Given the description of an element on the screen output the (x, y) to click on. 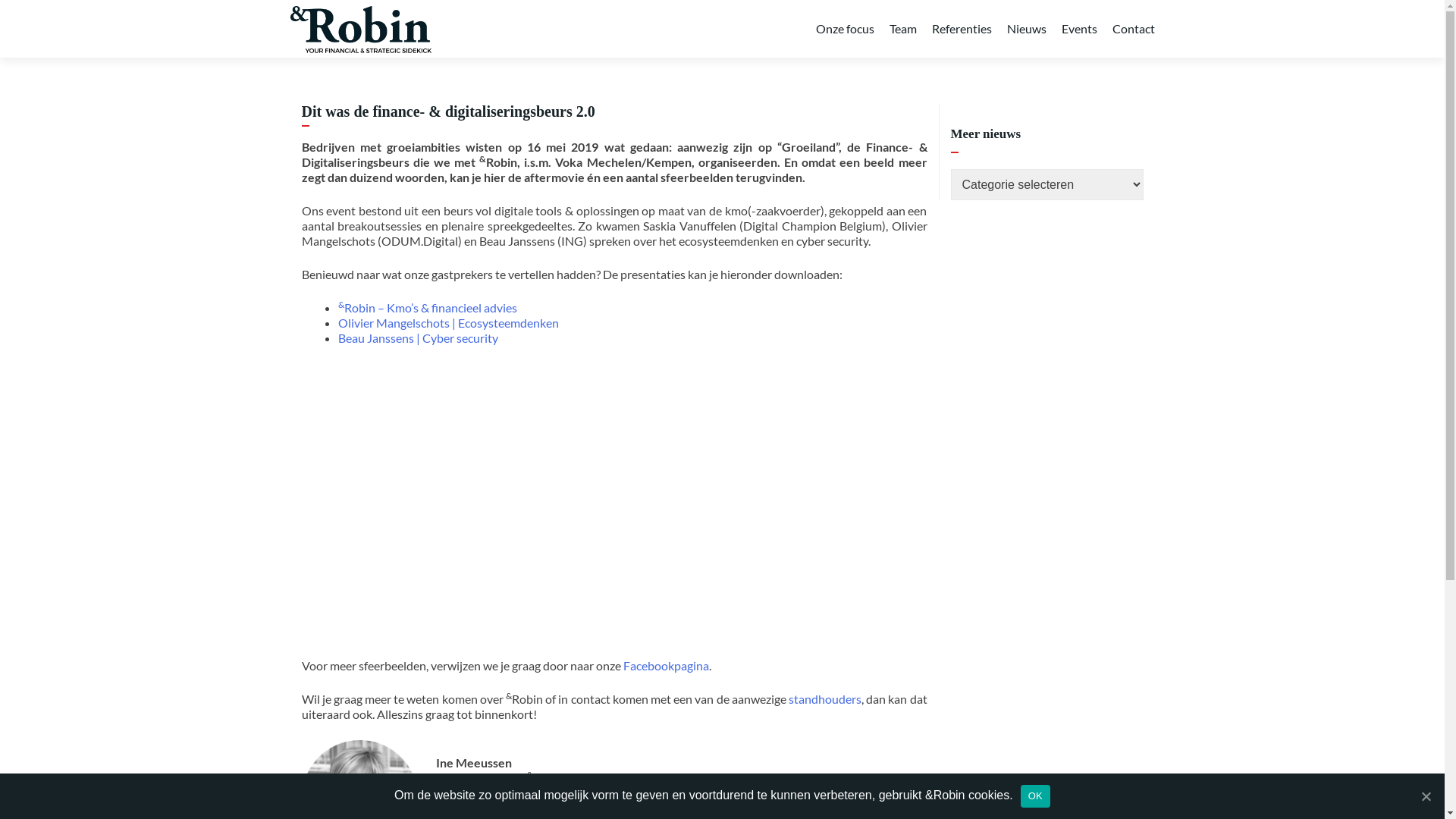
Onze focus Element type: text (844, 28)
OK Element type: text (1035, 795)
Team Element type: text (902, 28)
Beau Janssens | Cyber security Element type: text (418, 337)
Events Element type: text (1079, 28)
Contact Element type: text (1132, 28)
Facebookpagina Element type: text (666, 665)
&Robin Element type: hover (361, 28)
Referenties Element type: text (961, 28)
standhouders Element type: text (824, 698)
AFTERMOVIE | Finance- & Digitaliseringsbeurs 2.0 Element type: hover (544, 500)
Nieuws Element type: text (1026, 28)
Olivier Mangelschots | Ecosysteemdenken Element type: text (448, 322)
